Given the description of an element on the screen output the (x, y) to click on. 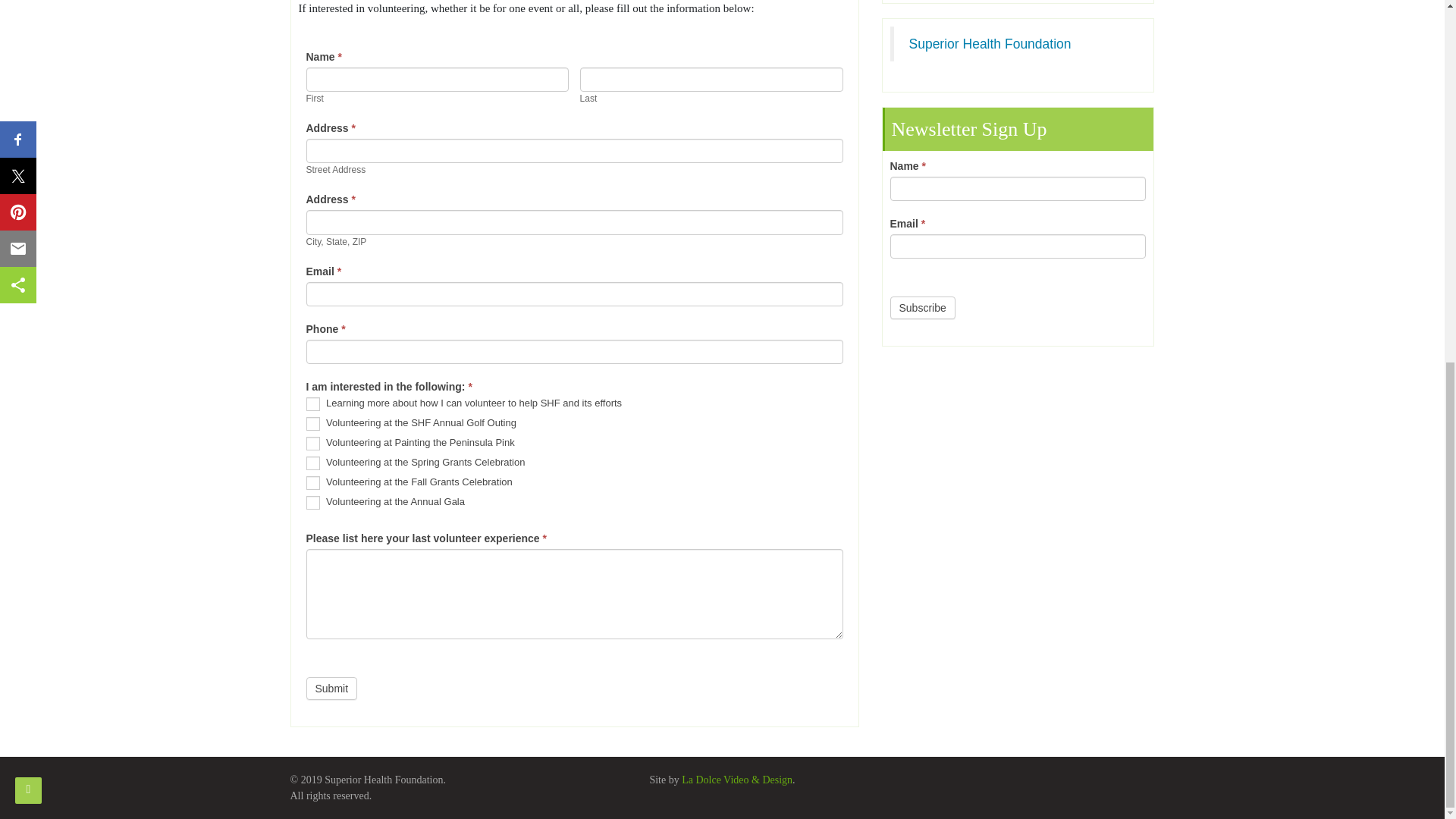
Volunteering at the Fall Grants Celebration (312, 482)
Volunteering at the SHF Annual Golf Outing (312, 423)
Volunteering at the Spring Grants Celebration (312, 463)
Volunteering at the Annual Gala (312, 502)
Volunteering at Painting the Peninsula Pink (312, 443)
